Given the description of an element on the screen output the (x, y) to click on. 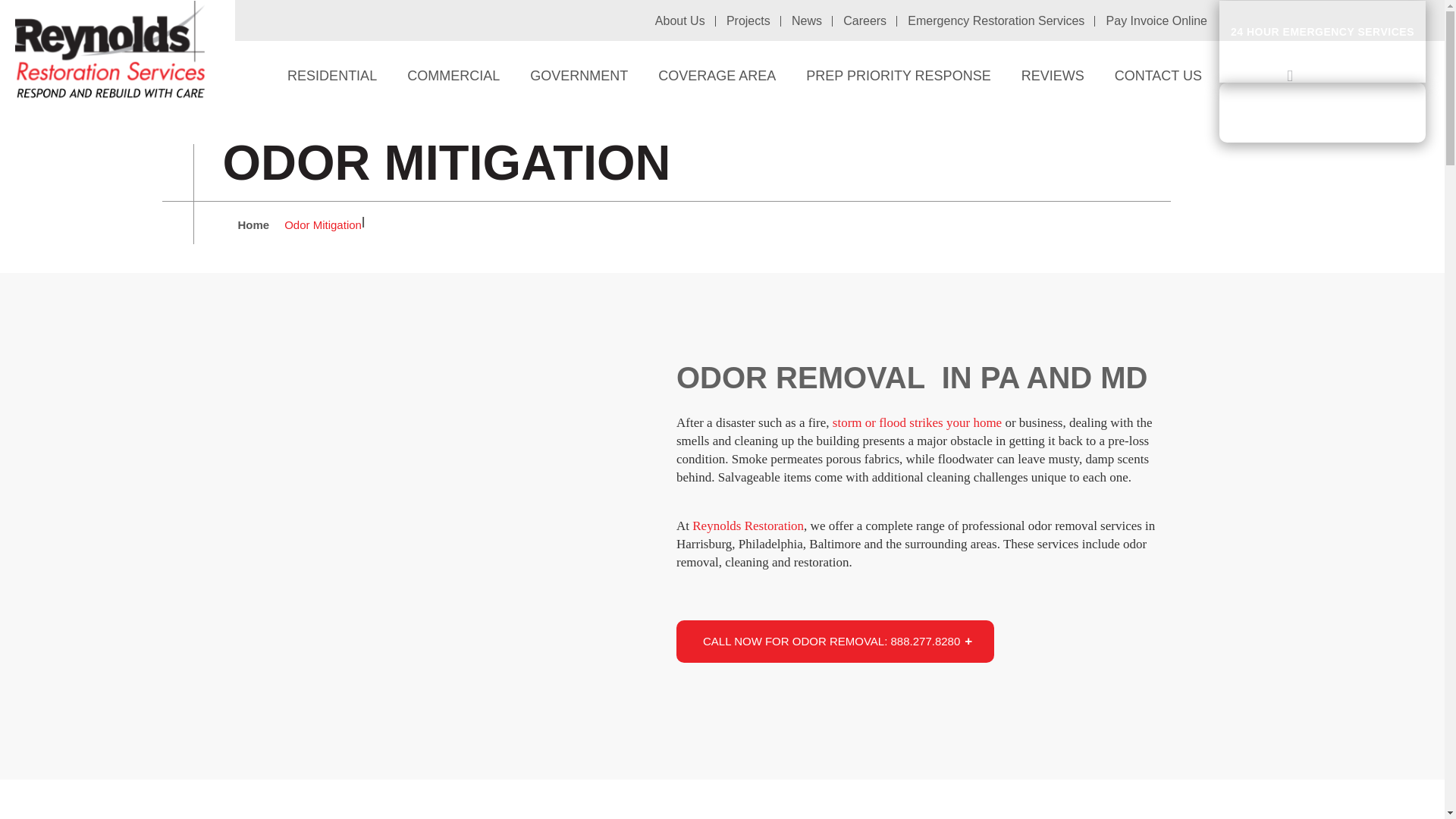
About Us (679, 20)
Projects (1322, 41)
Pay Invoice Online (748, 20)
Emergency Restoration Services (1156, 20)
RESIDENTIAL (995, 20)
COMMERCIAL (331, 76)
GET HELP NOW (453, 76)
News (1322, 112)
Careers (807, 20)
